Given the description of an element on the screen output the (x, y) to click on. 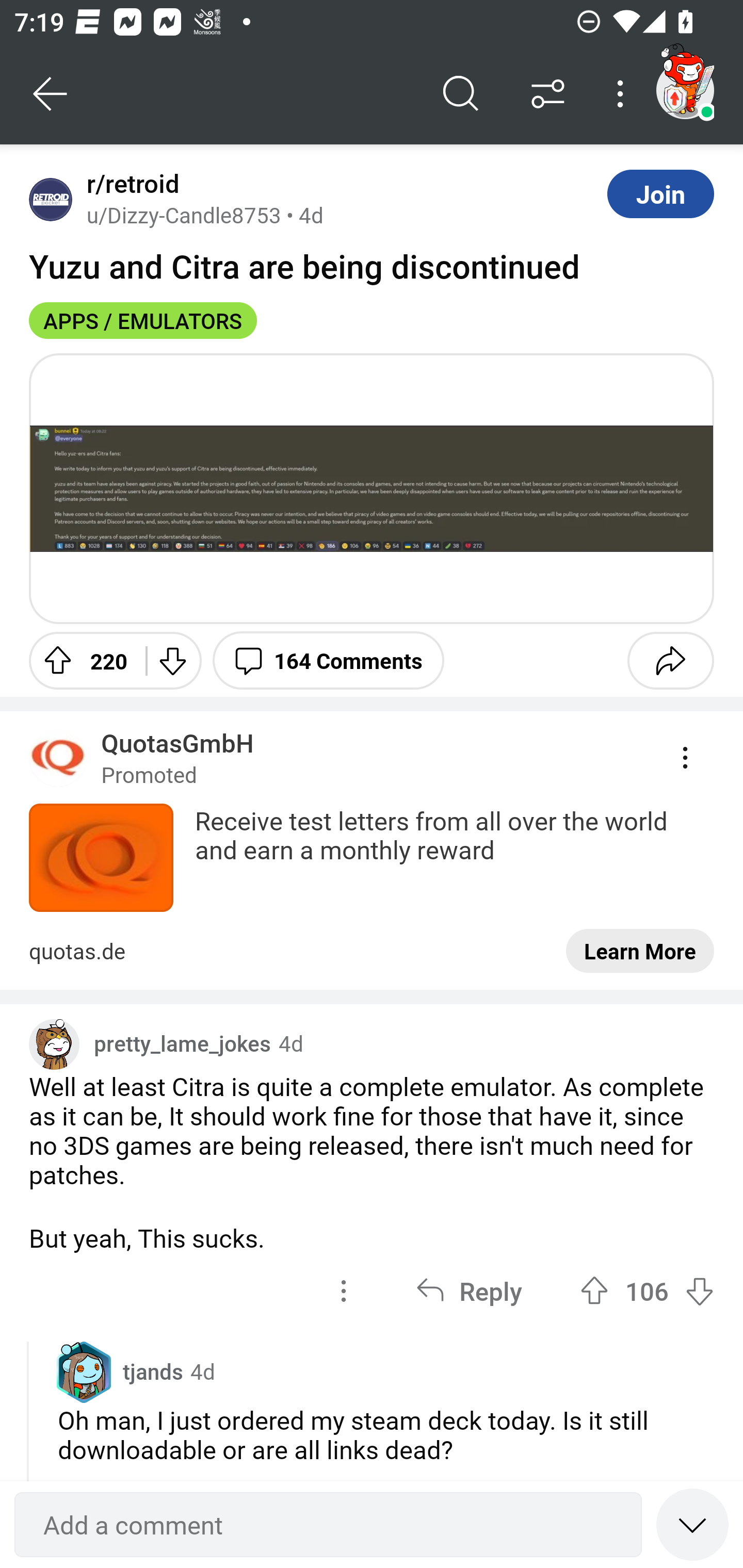
Back (50, 93)
TestAppium002 account (685, 90)
Search comments (460, 93)
Sort comments (547, 93)
More options (623, 93)
r/retroid (129, 183)
Join (660, 193)
Avatar (50, 199)
APPS / EMULATORS (142, 320)
Image (371, 488)
Upvote 220 (79, 660)
Downvote (171, 660)
164 Comments (328, 660)
Share (670, 660)
Custom avatar (53, 1044)
options (343, 1290)
Reply (469, 1290)
Upvote 106 106 votes Downvote (647, 1290)
Speed read (692, 1524)
Add a comment (327, 1524)
